Given the description of an element on the screen output the (x, y) to click on. 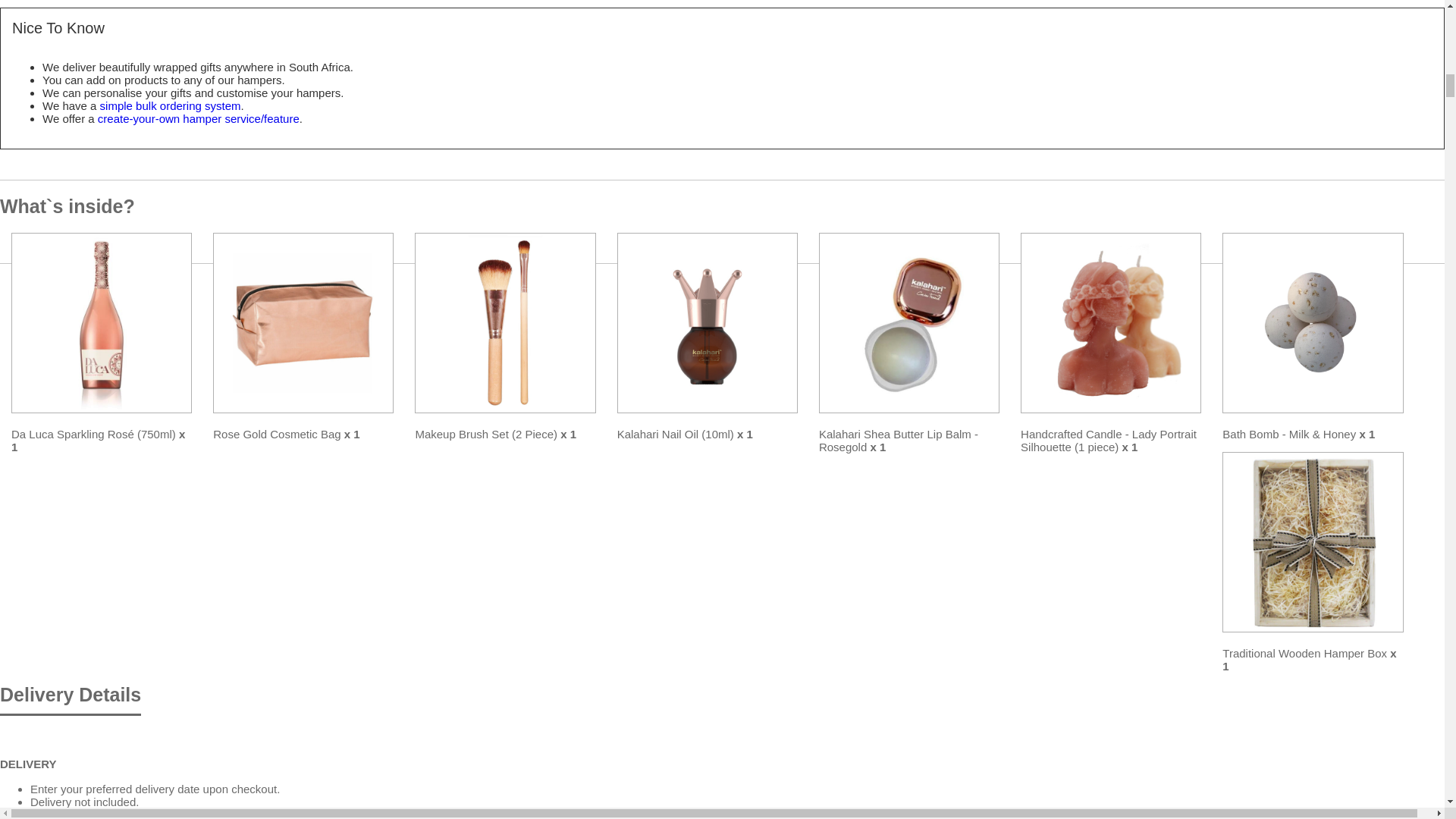
Kalahari Shea Butter Lip Balm - Rosegold (908, 322)
Rose Gold Cosmetic Bag (302, 322)
